Given the description of an element on the screen output the (x, y) to click on. 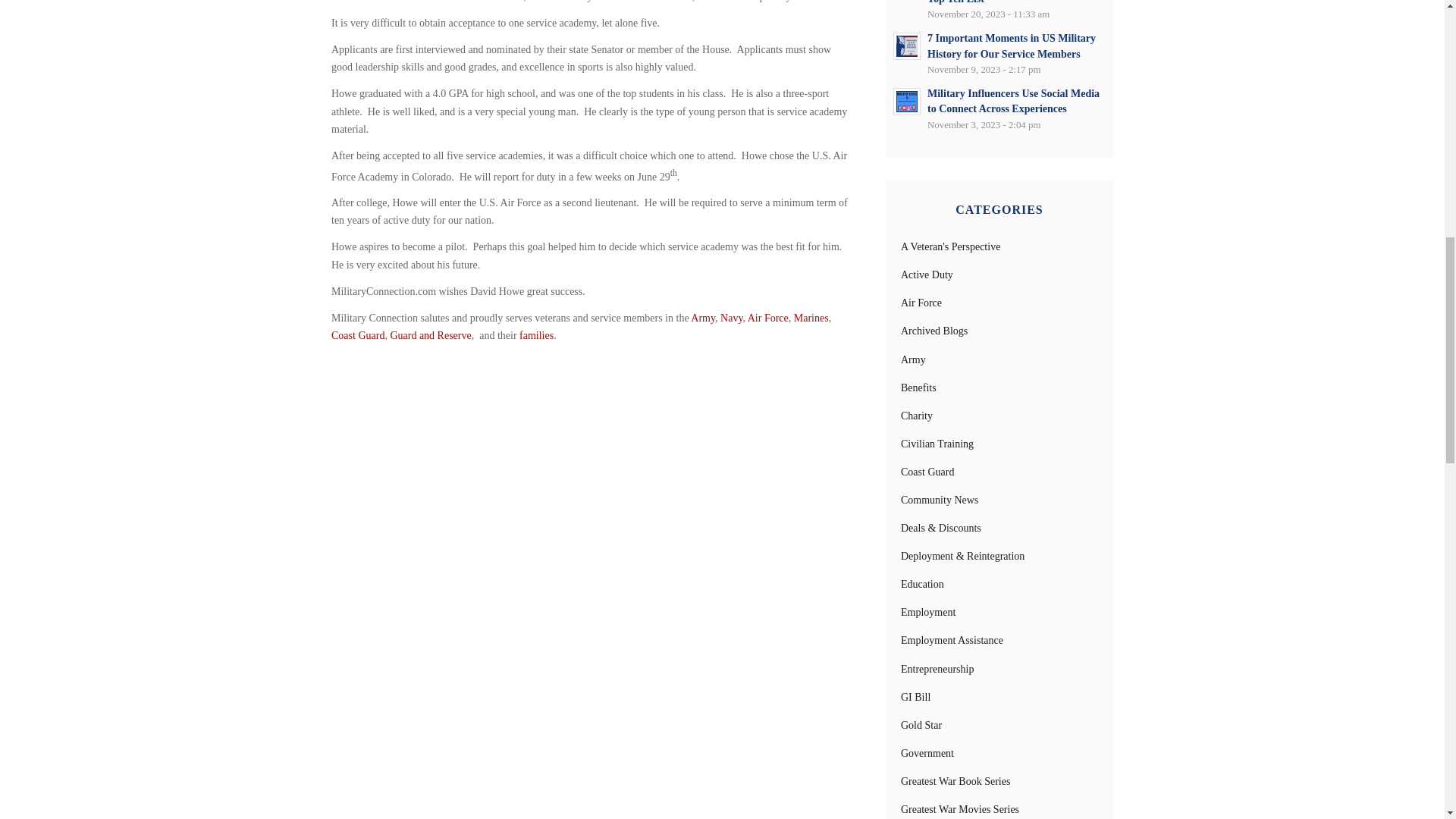
Guard and Reserve (430, 335)
Active Duty (927, 274)
Air Force (768, 317)
Marines (810, 317)
families (536, 335)
Army (702, 317)
Benefits (918, 387)
Army (913, 359)
Civilian Training (937, 443)
A Veteran's Perspective (950, 246)
Navy (731, 317)
Archived Blogs (934, 330)
